Given the description of an element on the screen output the (x, y) to click on. 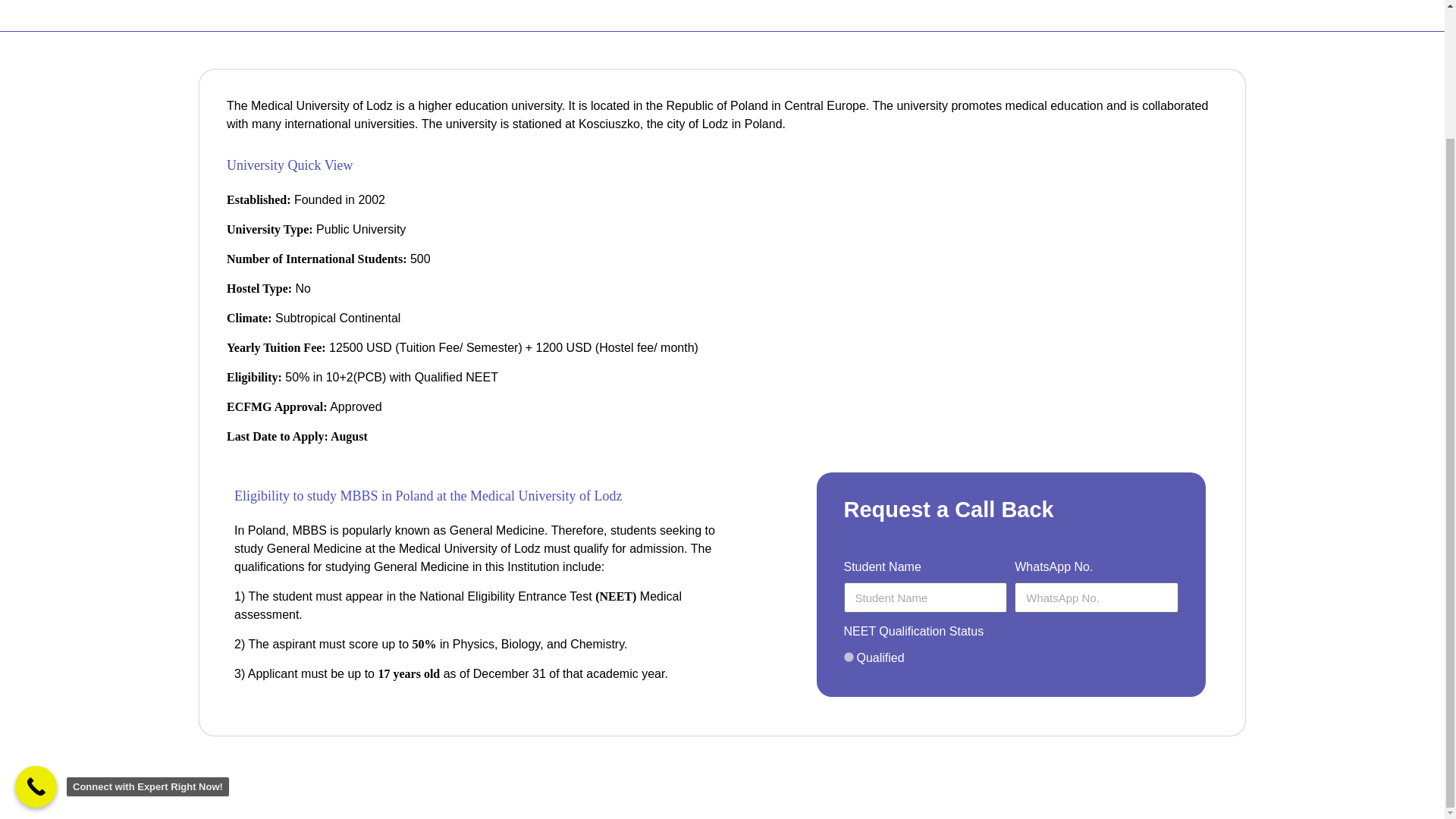
Qualified (848, 656)
